Given the description of an element on the screen output the (x, y) to click on. 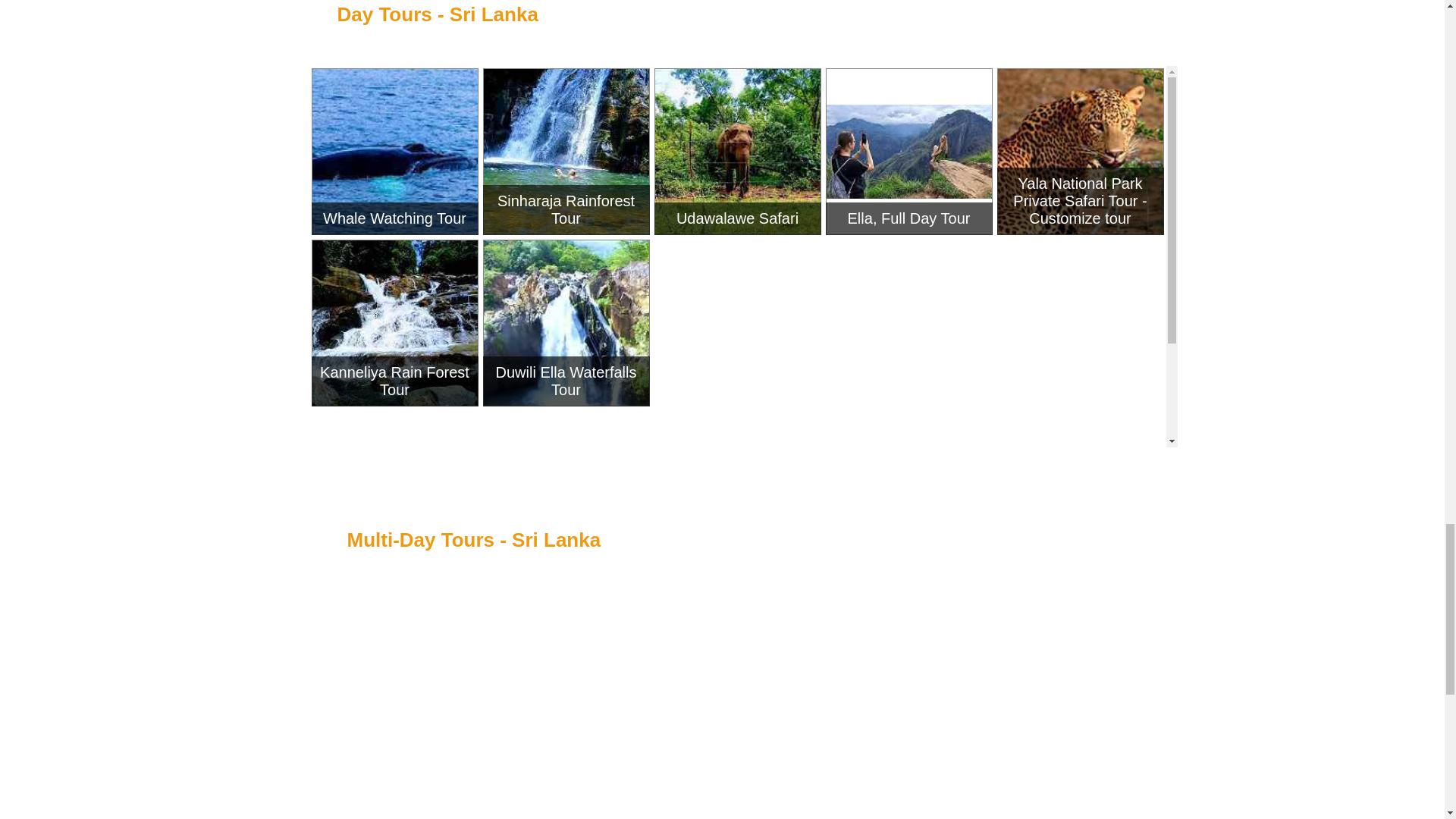
Whale Watching Tour (394, 151)
Yala Safari jeep Booking (1080, 322)
Madu River Boat Tour (1080, 493)
Whale Watching Tour (394, 151)
Kanneliya Rain Forest Tour (394, 322)
Ella, Full Day Tour (909, 151)
Udawalawe Safari (738, 151)
Koggala Lake Boat Tour (909, 493)
Ethamala Ella Waterfall Tour (738, 493)
Sinharaja Rainforest Tour (566, 151)
Duwili Ella Waterfalls Tour (566, 322)
Bundala National Park Safari Tour (738, 322)
Udawalawe Safari  (738, 151)
Yala National Park Private Safari Tour - Customize tour (1080, 151)
Ella, Full Day Tour (909, 151)
